Given the description of an element on the screen output the (x, y) to click on. 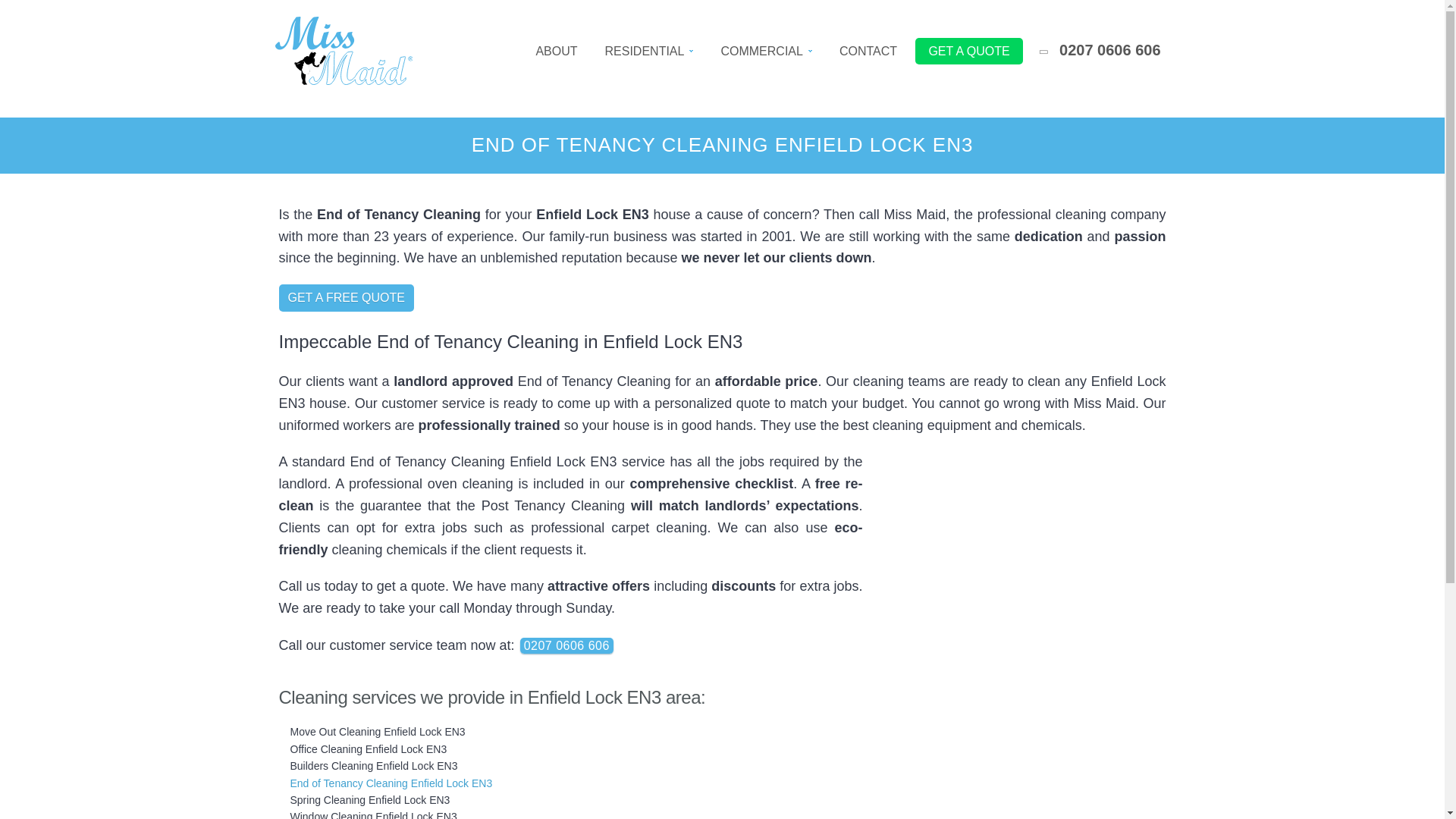
ABOUT (555, 51)
Book Now (968, 51)
CONTACT (868, 51)
RESIDENTIAL (649, 51)
0207 0606 606 (565, 645)
GET A QUOTE (968, 51)
COMMERCIAL (765, 51)
Contact Us (868, 51)
GET A FREE QUOTE (346, 298)
0207 0606 606 (1100, 51)
